Given the description of an element on the screen output the (x, y) to click on. 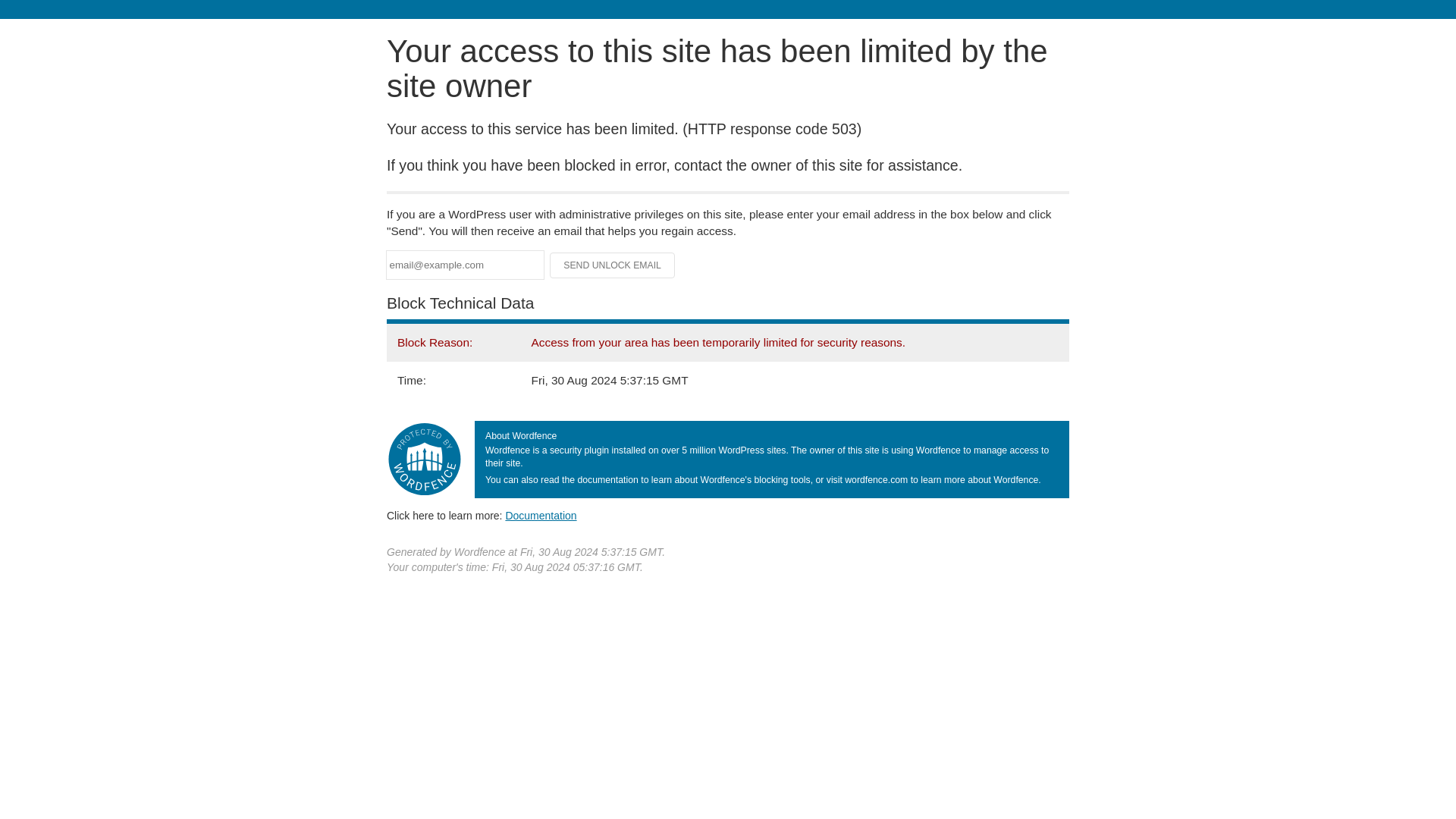
Send Unlock Email (612, 265)
Documentation (540, 515)
Send Unlock Email (612, 265)
